Given the description of an element on the screen output the (x, y) to click on. 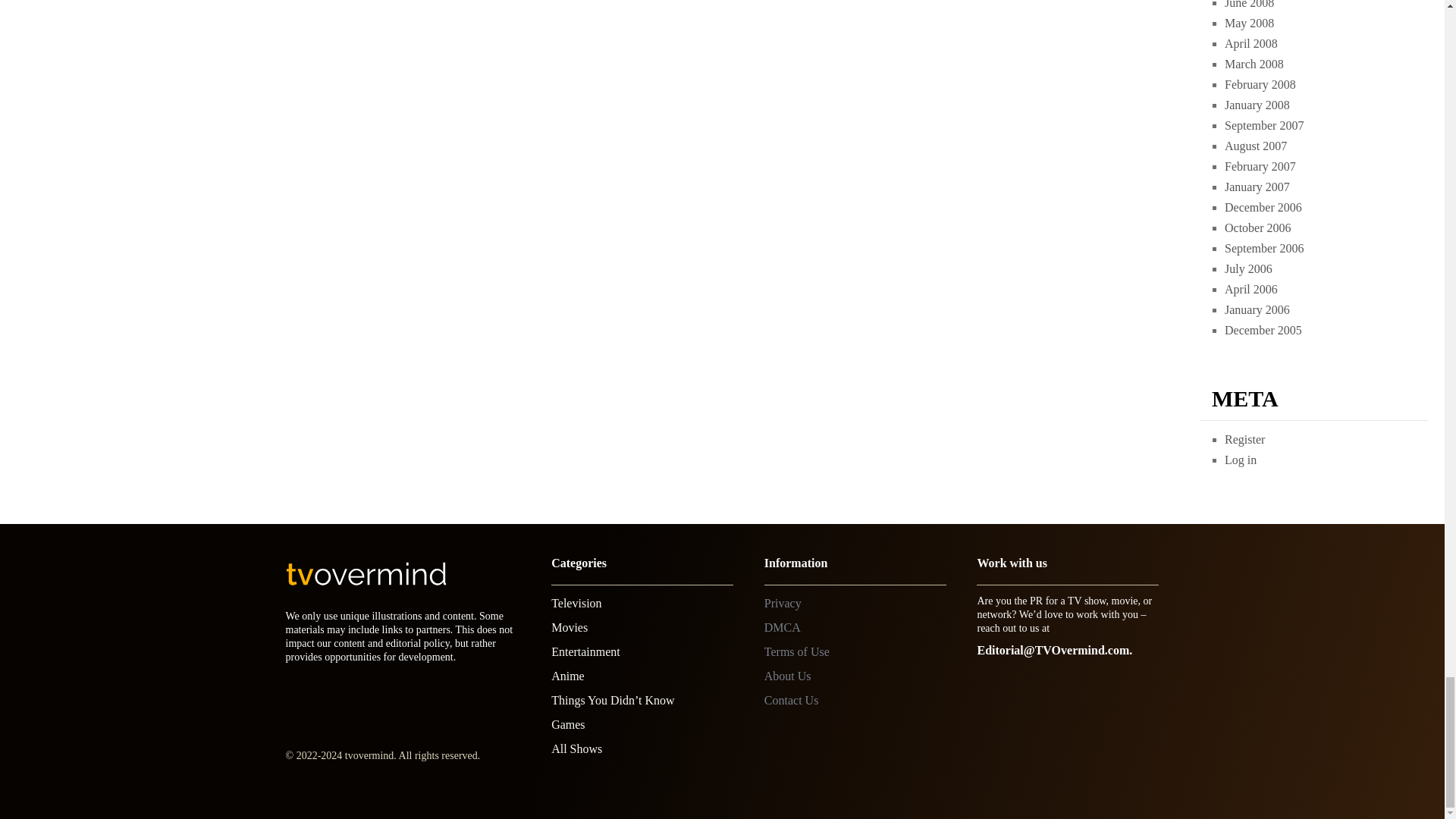
TV News (576, 603)
